Given the description of an element on the screen output the (x, y) to click on. 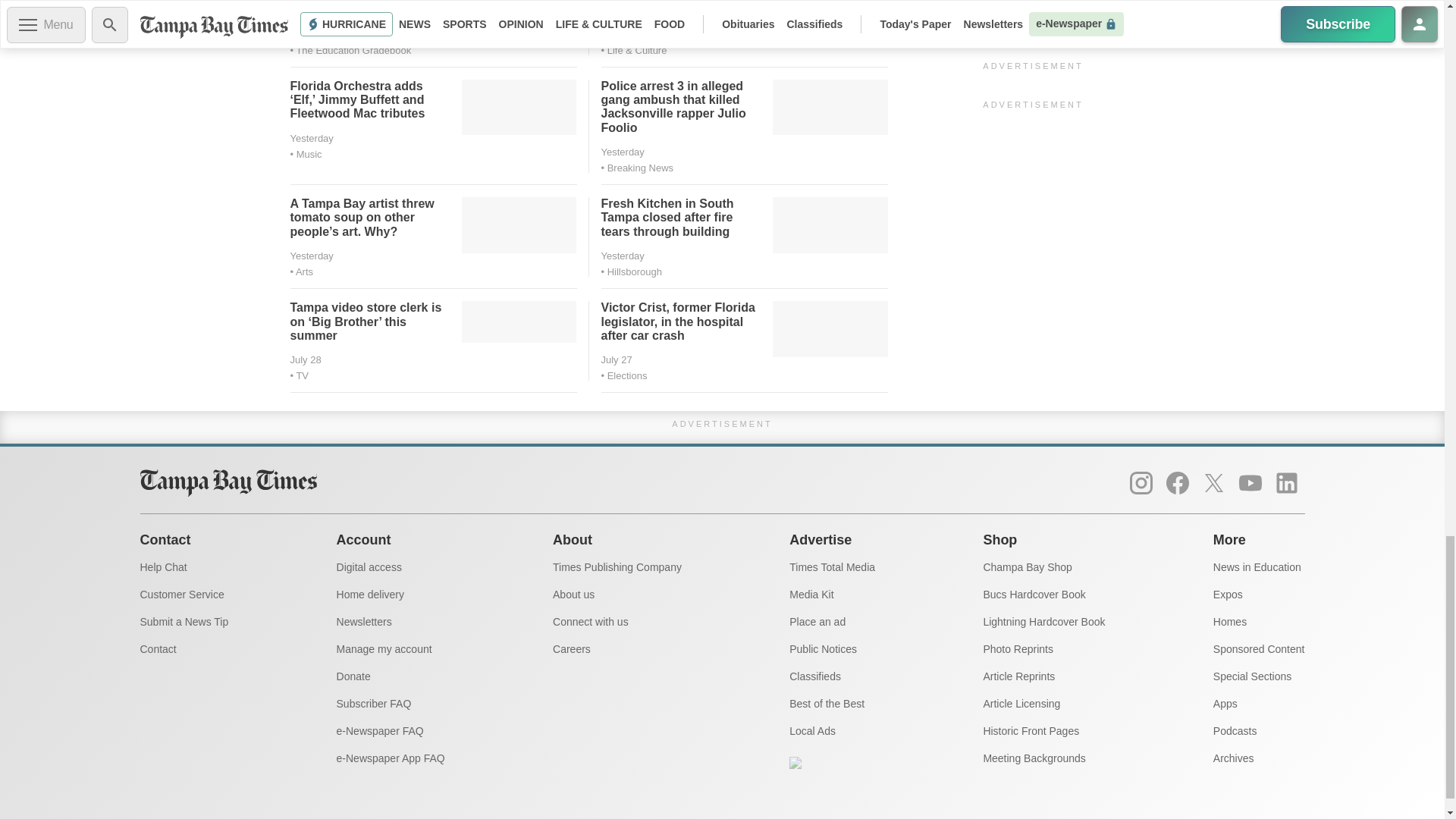
2024-07-30T13:37:50.498Z (311, 34)
2024-07-30T10:00:00Z (621, 34)
2024-07-28T13:00:00Z (304, 359)
2024-07-29T14:00:00Z (311, 255)
2024-07-29T20:24:52.441Z (311, 138)
2024-07-29T18:27:17.476Z (621, 152)
2024-07-29T11:53:30.870Z (621, 255)
